Given the description of an element on the screen output the (x, y) to click on. 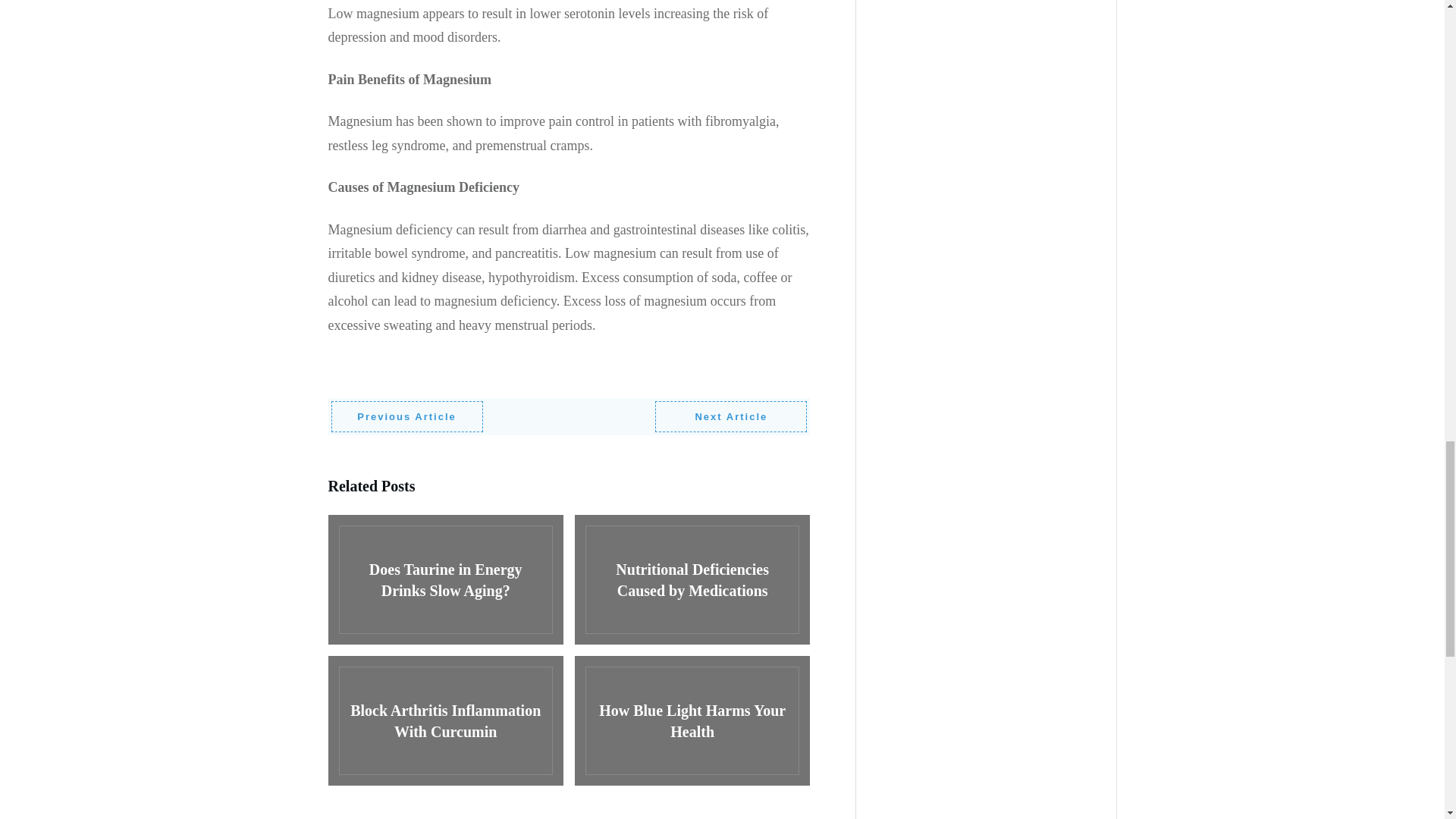
Previous Article (405, 417)
Nutritional Deficiencies Caused by Medications (692, 579)
Does Taurine in Energy Drinks Slow Aging? (444, 579)
How Blue Light Harms Your Health (692, 720)
Block Arthritis Inflammation With Curcumin (444, 720)
Next Article (730, 417)
